Given the description of an element on the screen output the (x, y) to click on. 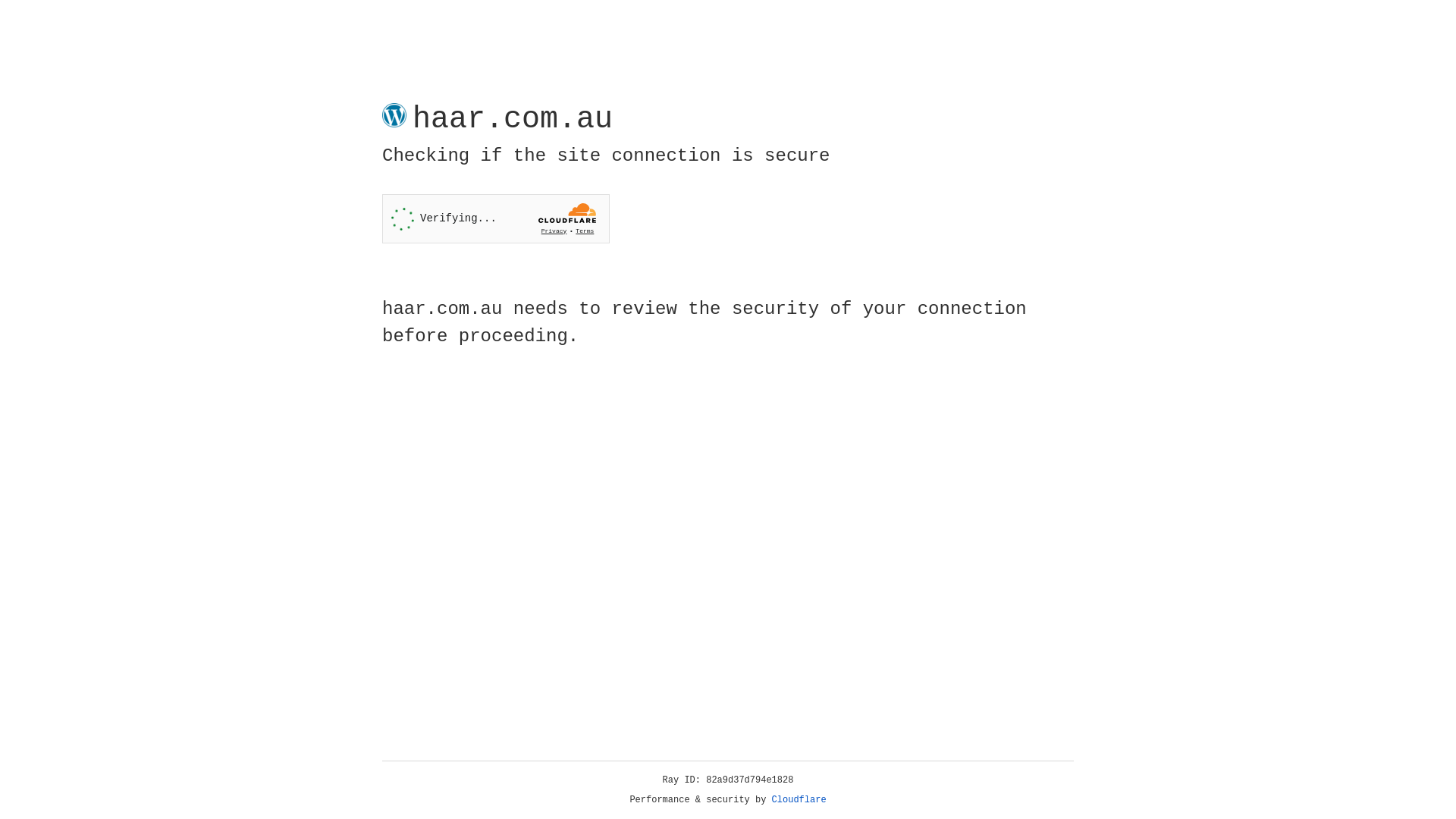
Widget containing a Cloudflare security challenge Element type: hover (495, 218)
Cloudflare Element type: text (798, 799)
